Given the description of an element on the screen output the (x, y) to click on. 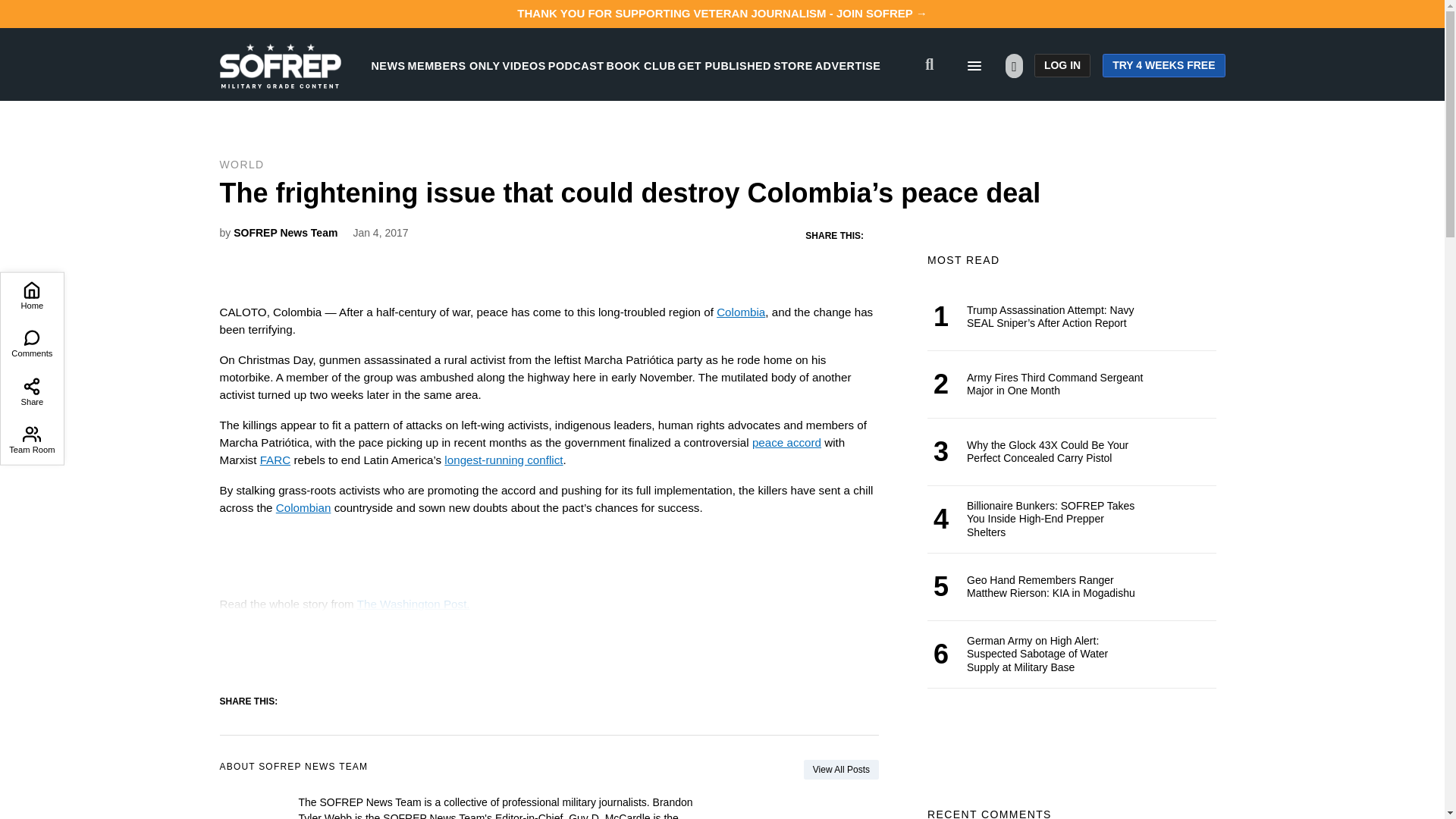
NEWS (388, 65)
BOOK CLUB (641, 65)
ADVERTISE (847, 65)
STORE (792, 65)
VIDEOS (524, 65)
MEMBERS ONLY (453, 65)
TRY 4 WEEKS FREE (1163, 65)
PODCAST (576, 65)
LOG IN (1061, 65)
GET PUBLISHED (724, 65)
